Given the description of an element on the screen output the (x, y) to click on. 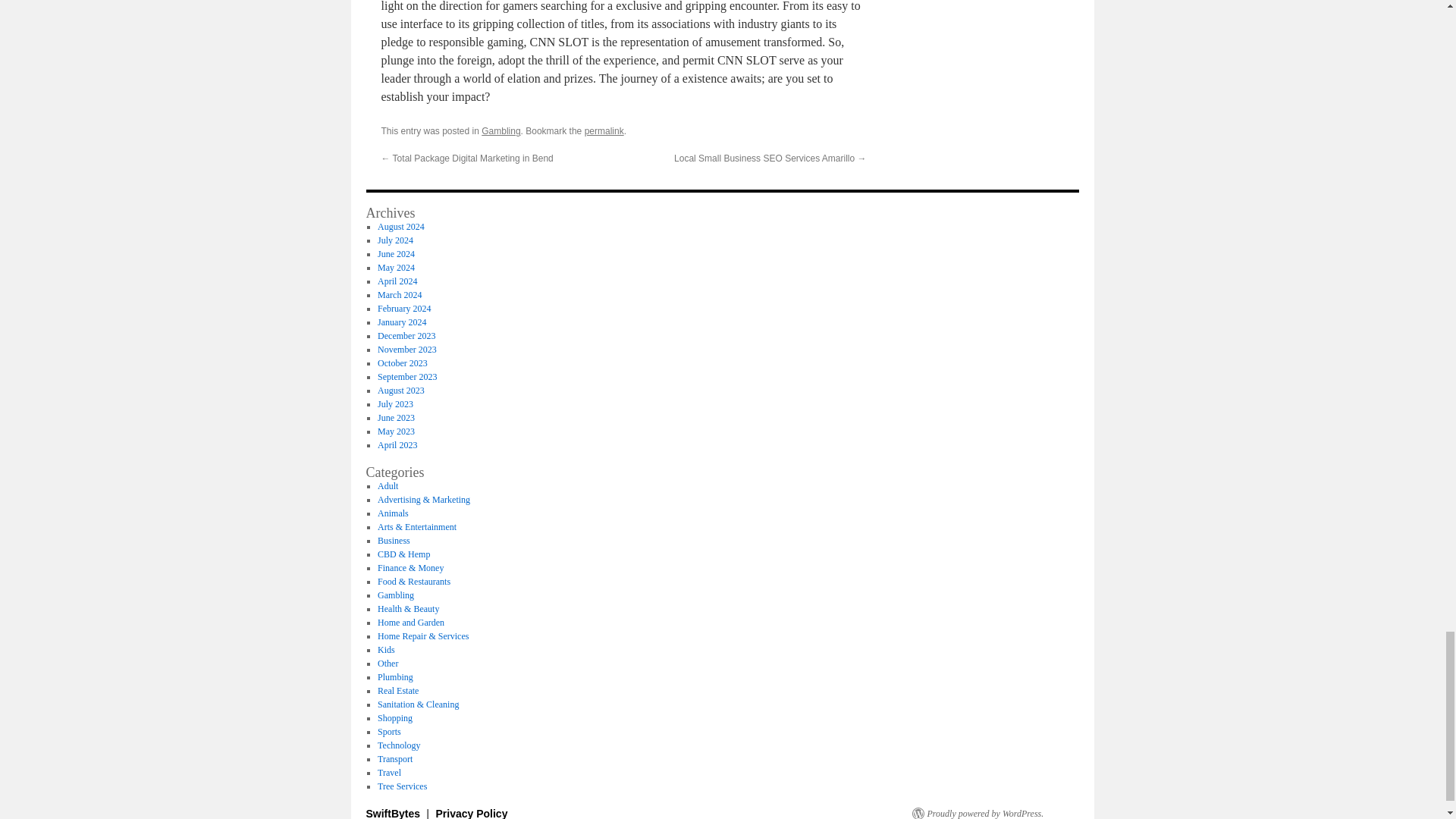
October 2023 (402, 362)
August 2023 (401, 389)
Adult (387, 485)
May 2024 (395, 267)
March 2024 (399, 294)
February 2024 (403, 308)
August 2024 (401, 226)
January 2024 (401, 321)
June 2024 (395, 253)
December 2023 (406, 335)
